Given the description of an element on the screen output the (x, y) to click on. 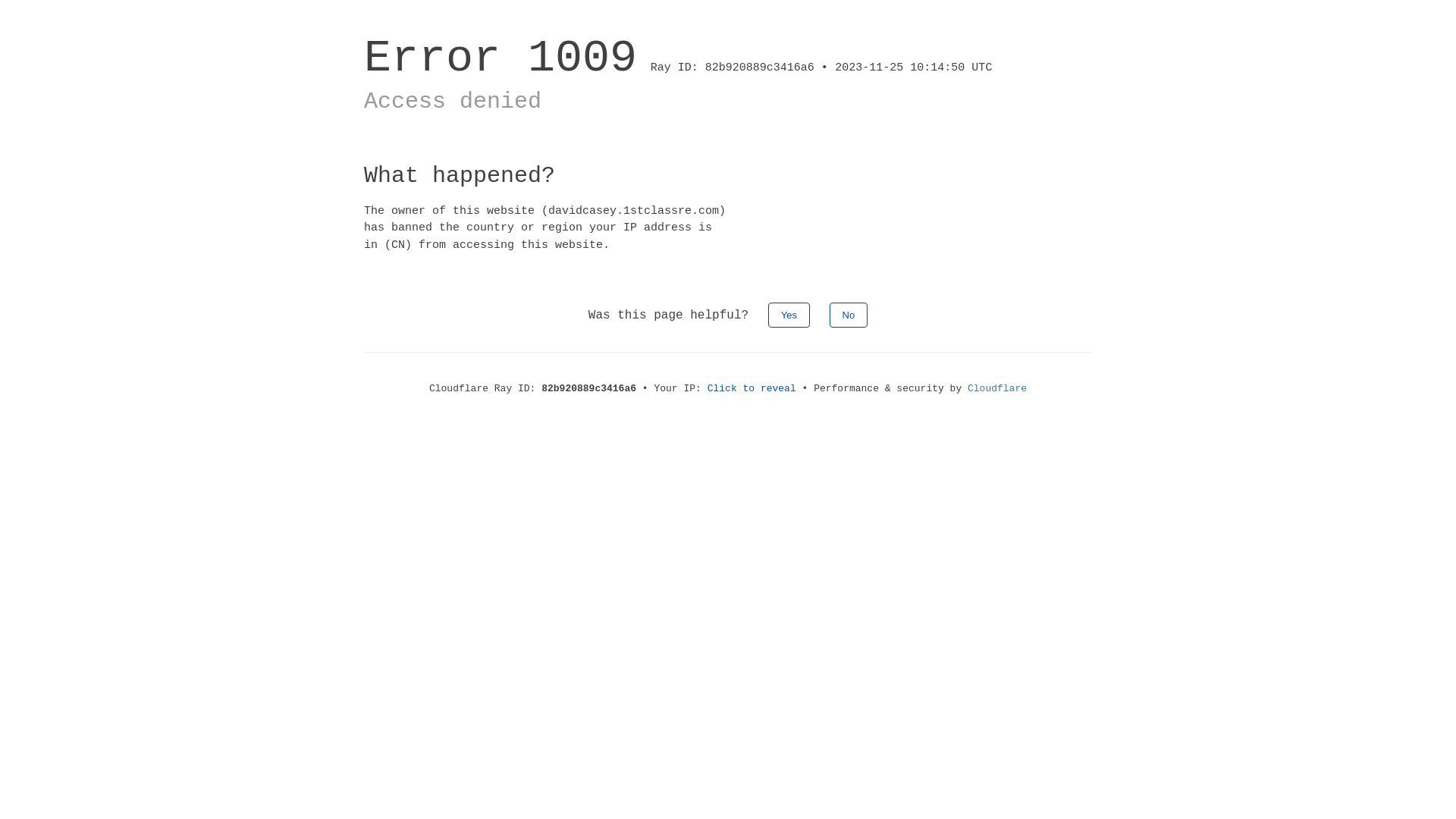
Yes Element type: text (788, 314)
Click to reveal Element type: text (751, 388)
No Element type: text (848, 314)
Cloudflare Element type: text (996, 388)
